Given the description of an element on the screen output the (x, y) to click on. 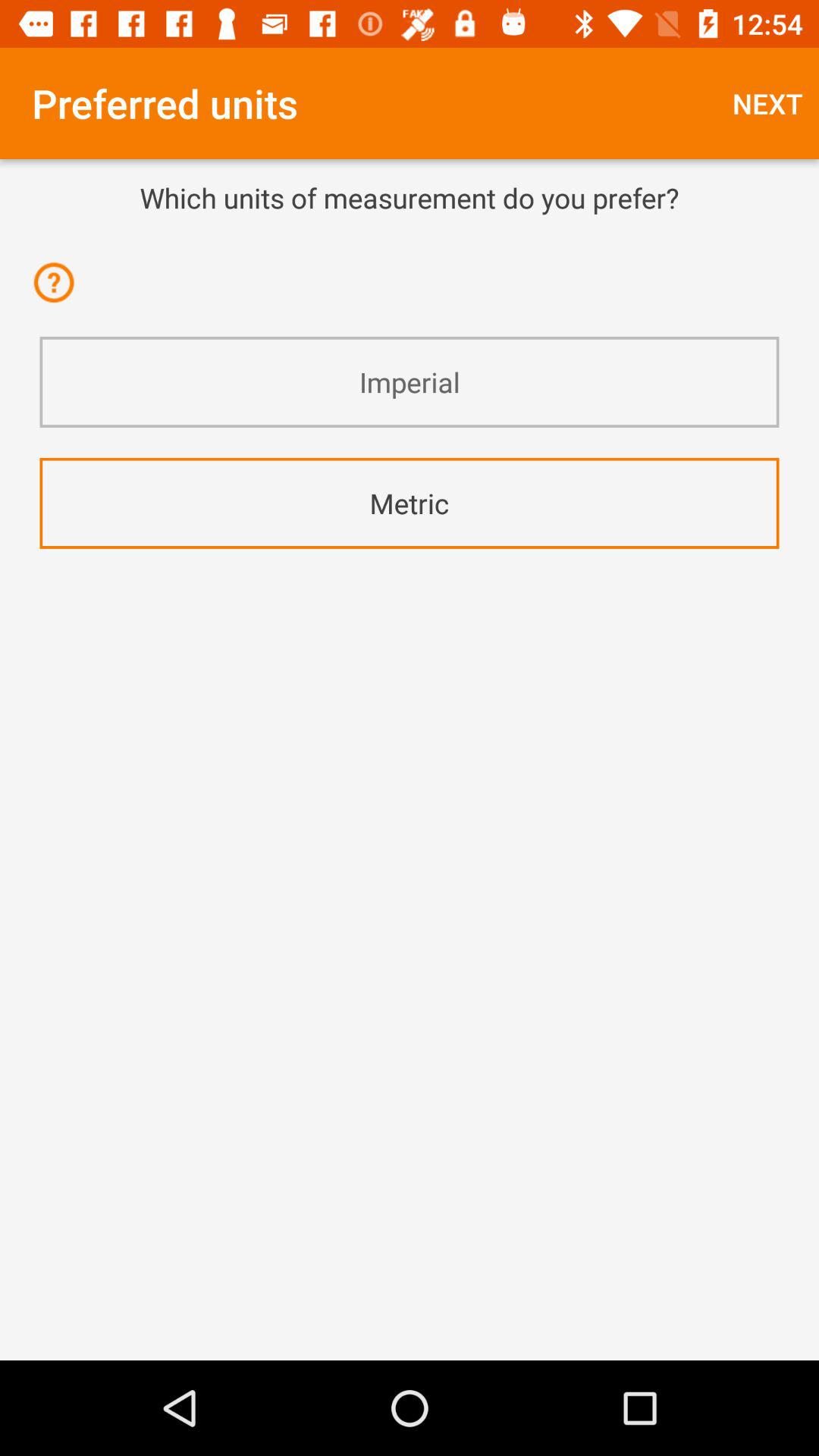
jump to next (767, 103)
